Given the description of an element on the screen output the (x, y) to click on. 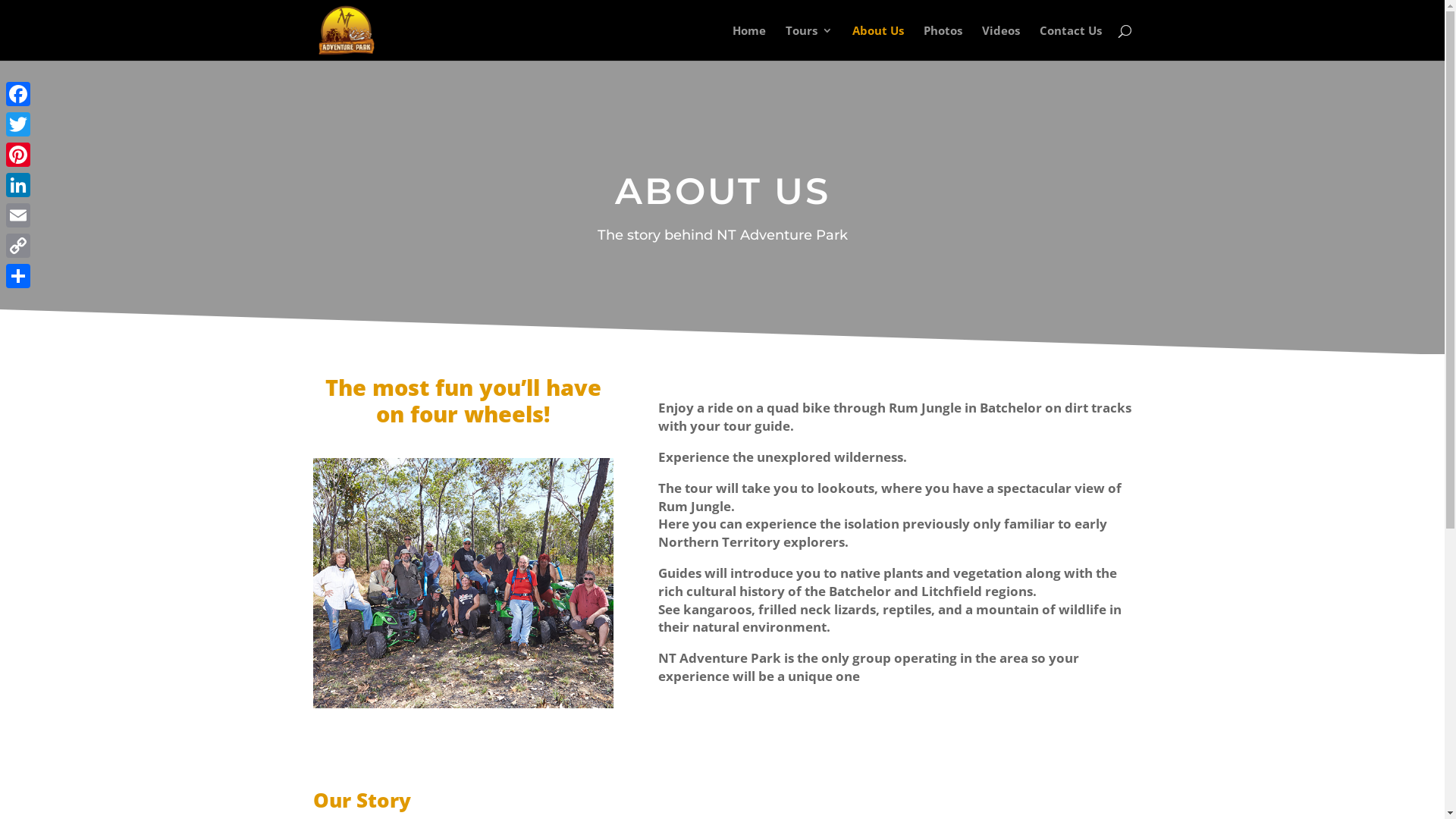
Videos Element type: text (1000, 42)
About Us Element type: text (877, 42)
Twitter Element type: text (18, 124)
Home Element type: text (748, 42)
Share Element type: text (18, 275)
Contact Us Element type: text (1069, 42)
Email Element type: text (18, 215)
Pinterest Element type: text (18, 154)
LinkedIn Element type: text (18, 184)
Tours Element type: text (808, 42)
Copy Link Element type: text (18, 245)
Facebook Element type: text (18, 93)
Photos Element type: text (942, 42)
